Given the description of an element on the screen output the (x, y) to click on. 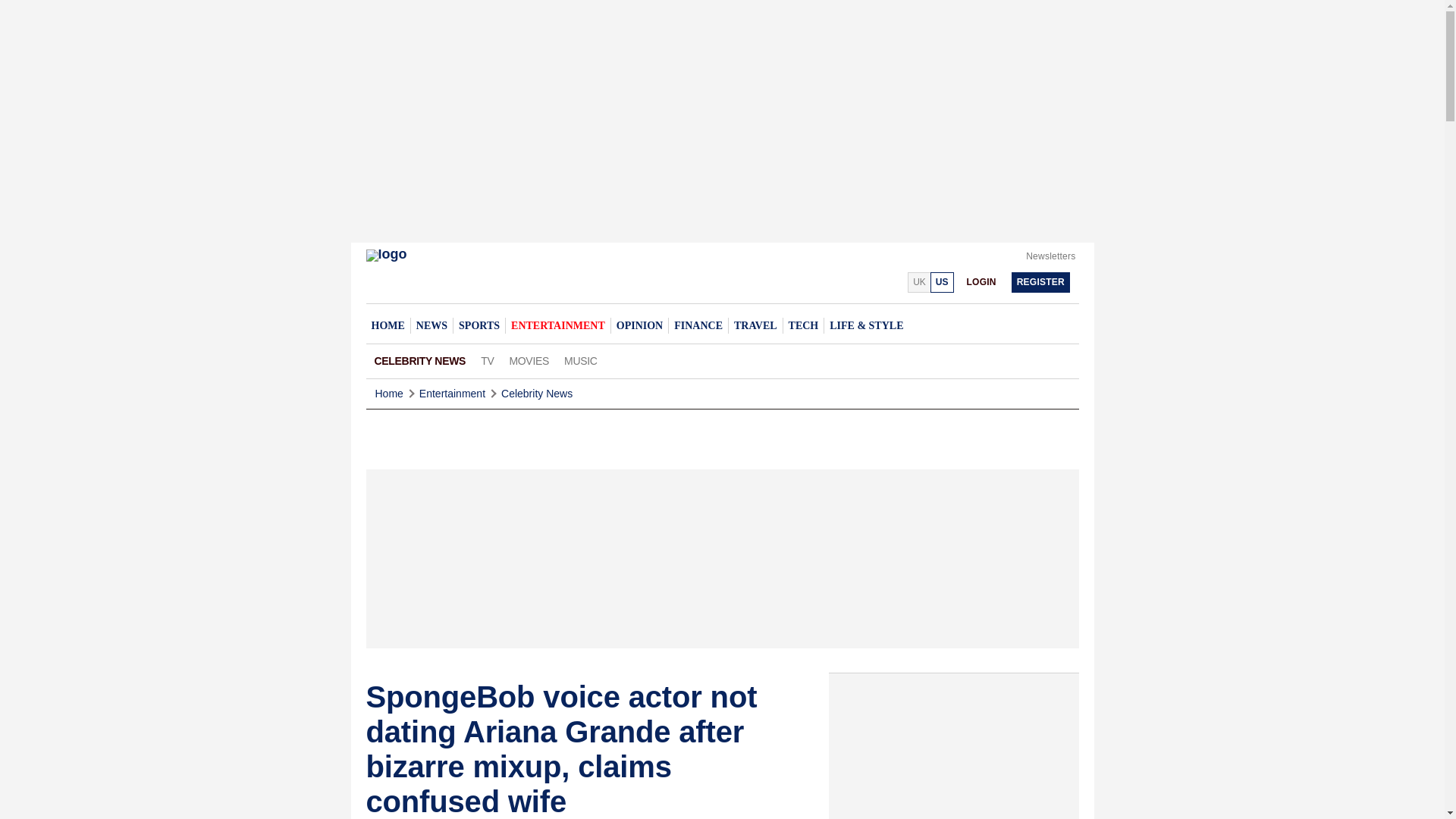
OPINION (639, 325)
TV (486, 361)
SPORTS (478, 325)
US (941, 281)
FINANCE (698, 325)
Find us on Facebook (856, 281)
NEWS (431, 325)
ENTERTAINMENT (557, 325)
CELEBRITY NEWS (420, 361)
Home (388, 393)
